Given the description of an element on the screen output the (x, y) to click on. 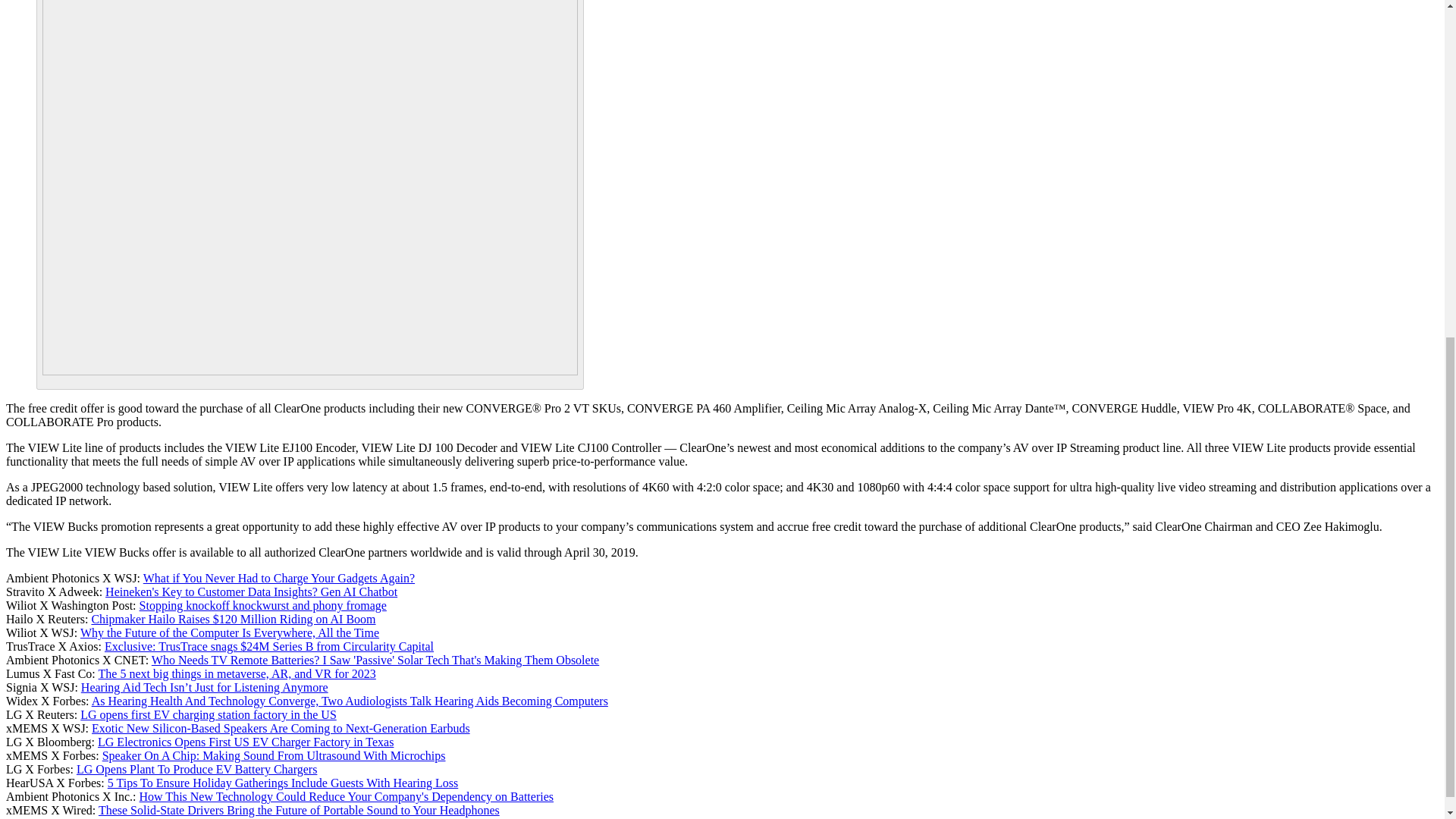
Heineken's Key to Customer Data Insights? Gen AI Chatbot (250, 591)
LG opens first EV charging station factory in the US (208, 714)
LG Opens Plant To Produce EV Battery Chargers (197, 768)
What if You Never Had to Charge Your Gadgets Again? (278, 577)
LG Electronics Opens First US EV Charger Factory in Texas (245, 741)
Stopping knockoff knockwurst and phony fromage (263, 604)
Why the Future of the Computer Is Everywhere, All the Time (229, 632)
The 5 next big things in metaverse, AR, and VR for 2023 (237, 673)
